Given the description of an element on the screen output the (x, y) to click on. 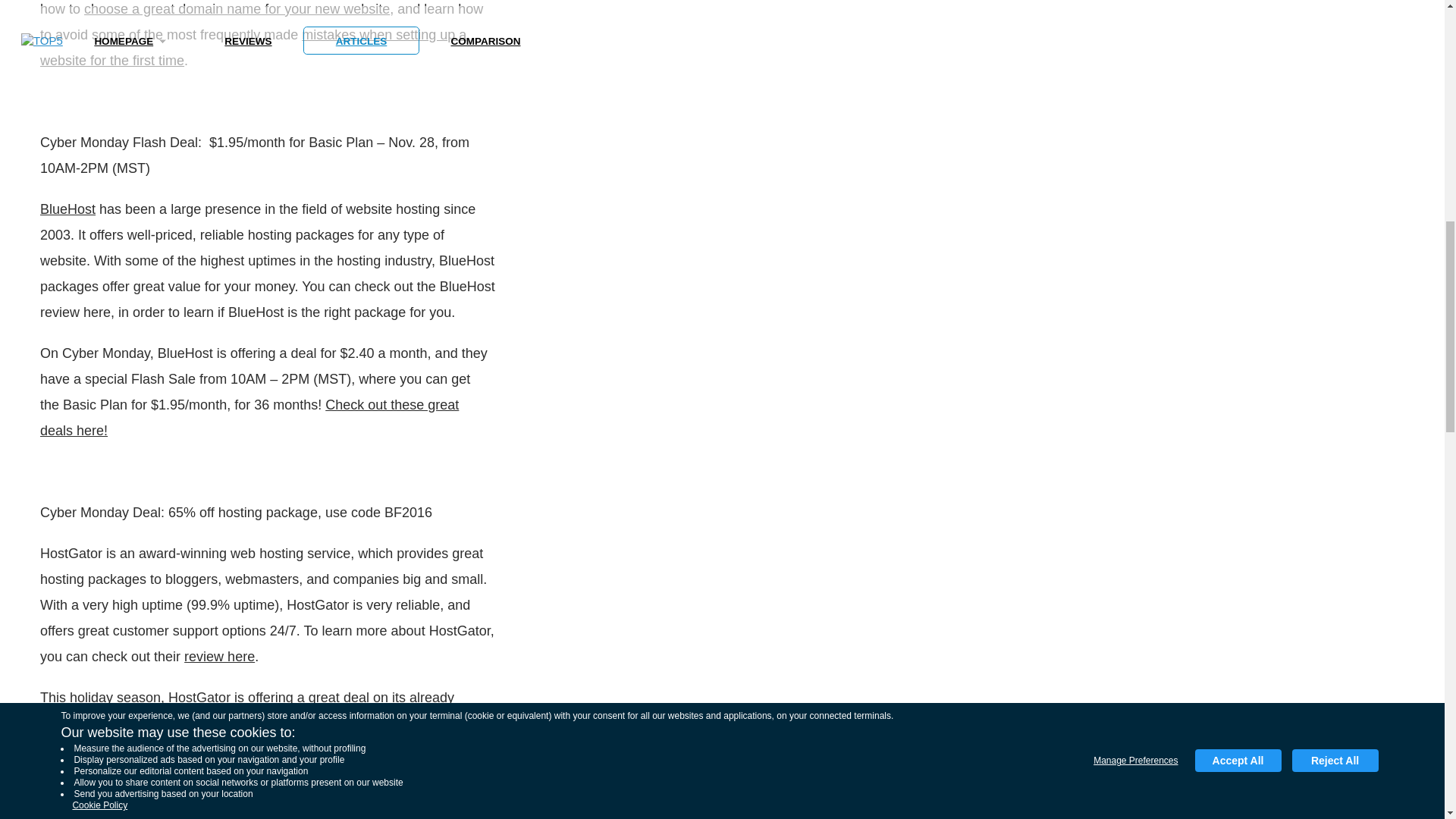
Check out these great deals here! (249, 417)
choose a great domain name for your new website (237, 8)
Check out this great deal here. (260, 762)
review here (219, 656)
BlueHost (68, 209)
mistakes when setting up a website for the first time (252, 47)
